Given the description of an element on the screen output the (x, y) to click on. 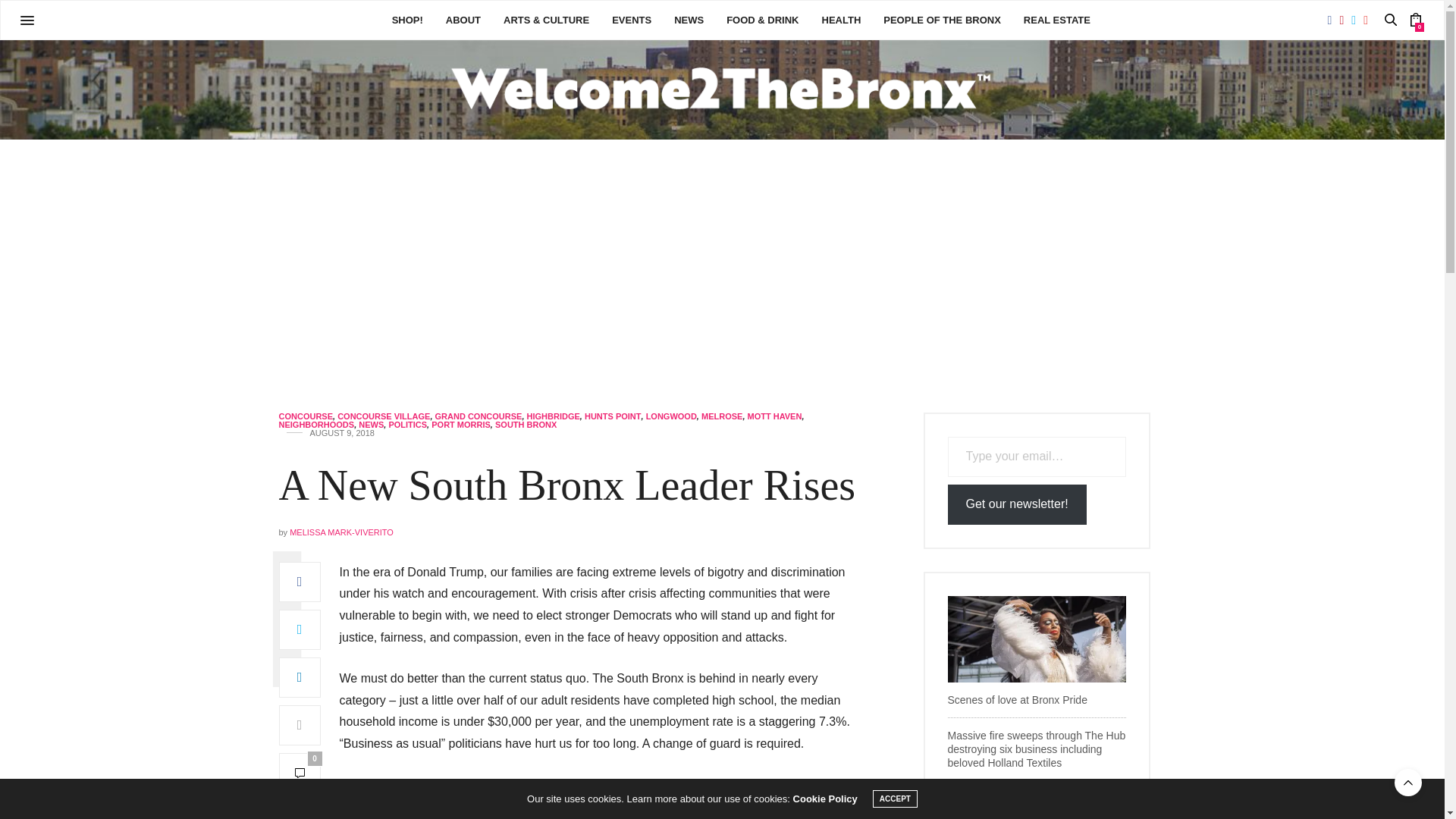
CONCOURSE VILLAGE (383, 416)
HIGHBRIDGE (553, 416)
GRAND CONCOURSE (478, 416)
Please fill in this field. (1036, 456)
REAL ESTATE (1056, 19)
NEIGHBORHOODS (317, 424)
LONGWOOD (671, 416)
PEOPLE OF THE BRONX (942, 19)
Posts by Melissa Mark-Viverito (341, 532)
CONCOURSE (306, 416)
MELROSE (721, 416)
Scroll To Top (1408, 782)
HUNTS POINT (613, 416)
Welcome2TheBronx (721, 89)
